Given the description of an element on the screen output the (x, y) to click on. 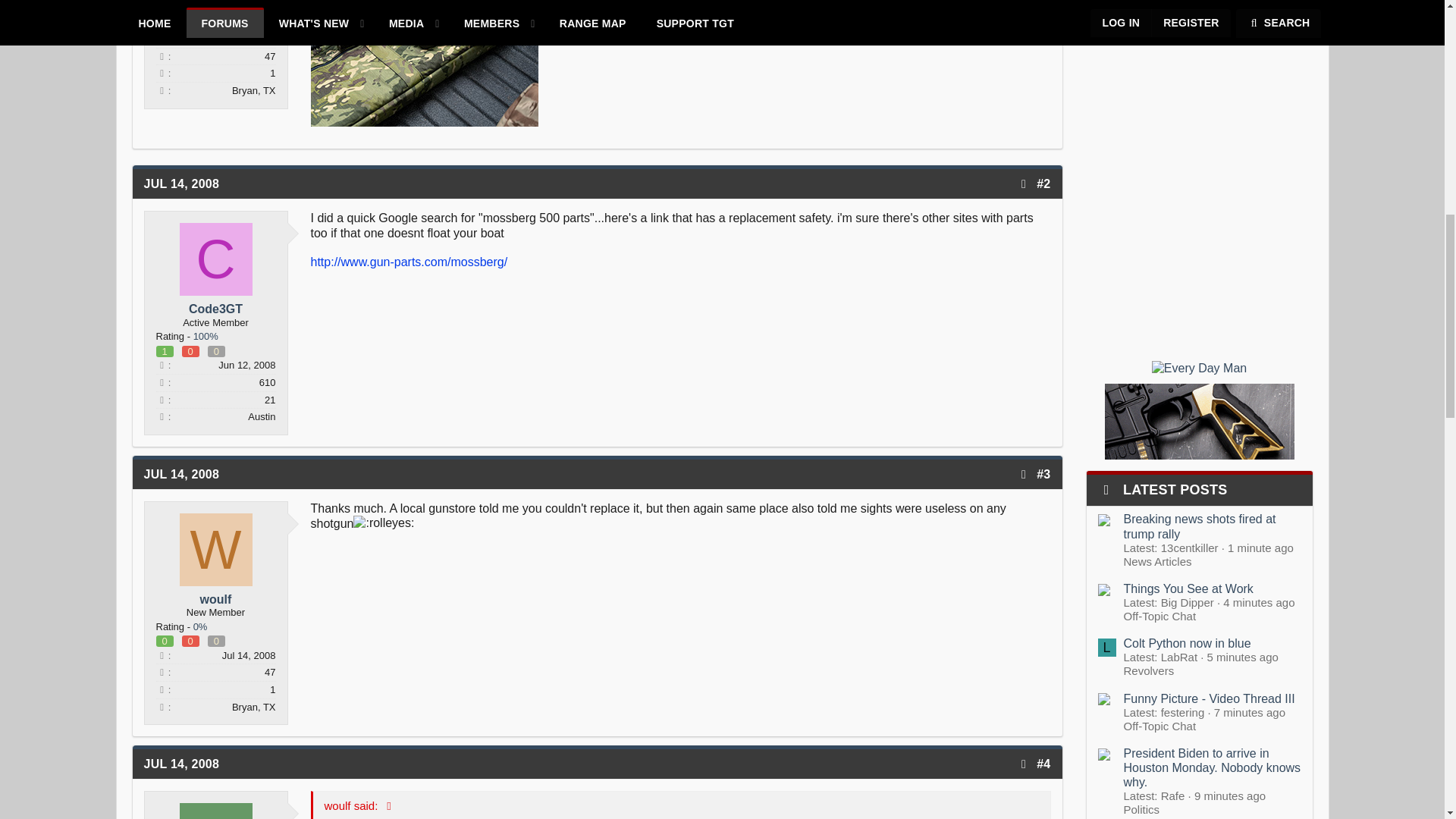
Location (161, 90)
Jul 14, 2008 at 1:16 PM (181, 473)
Location (161, 416)
Points (161, 72)
Points (161, 399)
Joined (161, 655)
Joined (161, 39)
Messages (161, 672)
Joined (161, 365)
Messages (161, 382)
Jul 14, 2008 at 12:31 PM (181, 183)
Messages (161, 56)
